Given the description of an element on the screen output the (x, y) to click on. 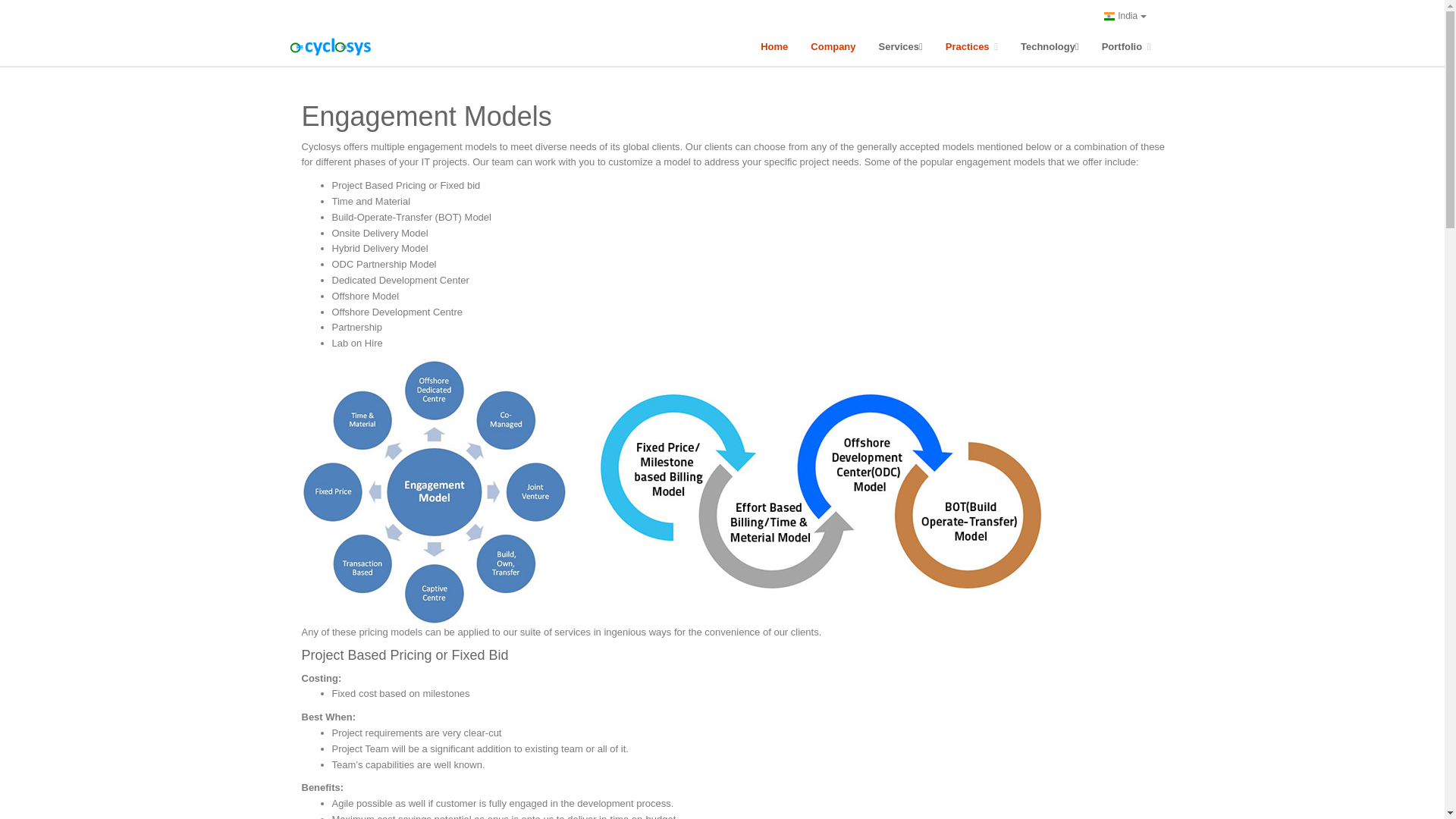
Home (774, 46)
Technology (1049, 46)
Practices (971, 46)
Company (832, 46)
India (1125, 15)
Services (900, 46)
